Given the description of an element on the screen output the (x, y) to click on. 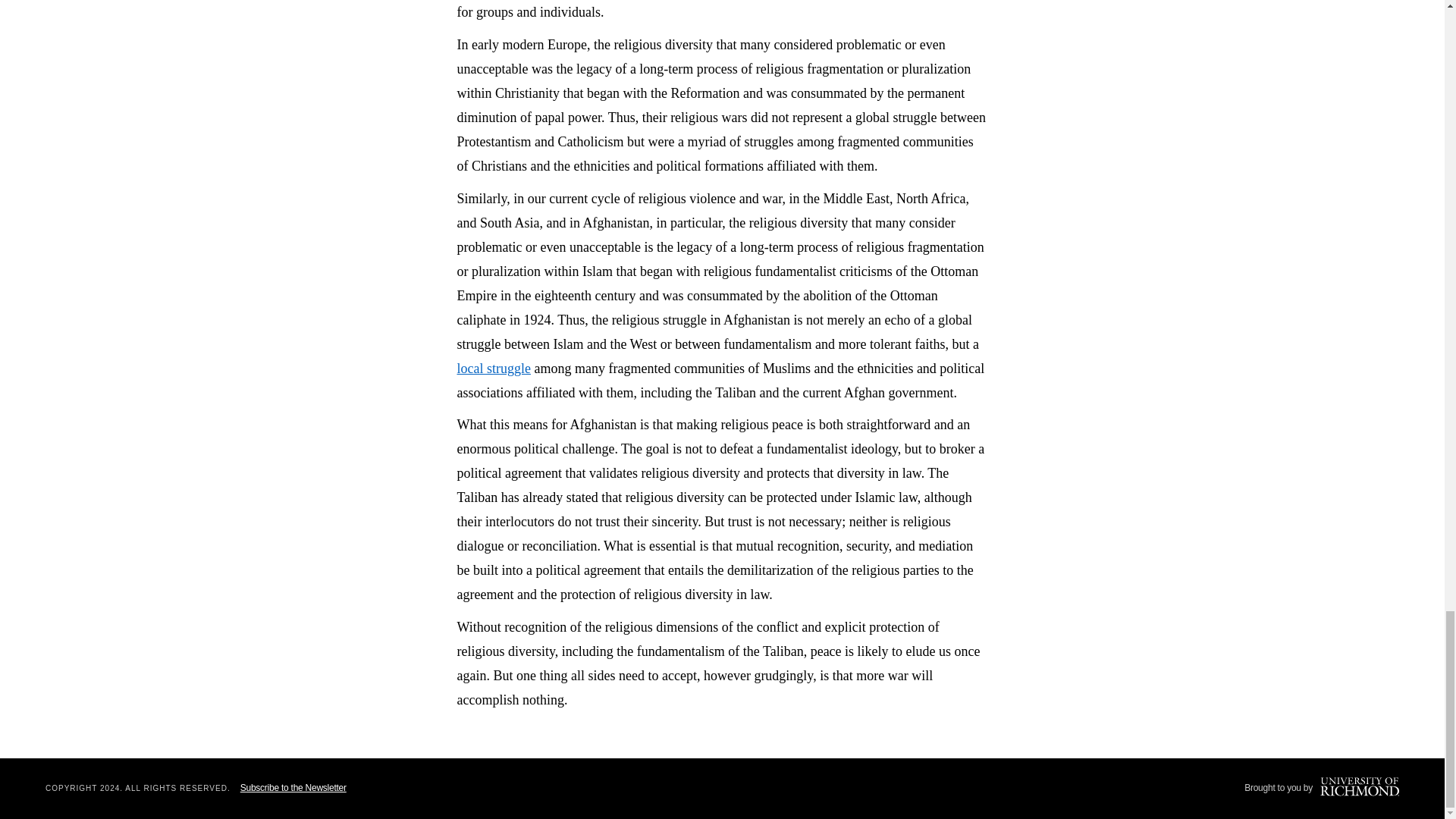
local struggle (493, 368)
Subscribe to the Newsletter (293, 787)
